Given the description of an element on the screen output the (x, y) to click on. 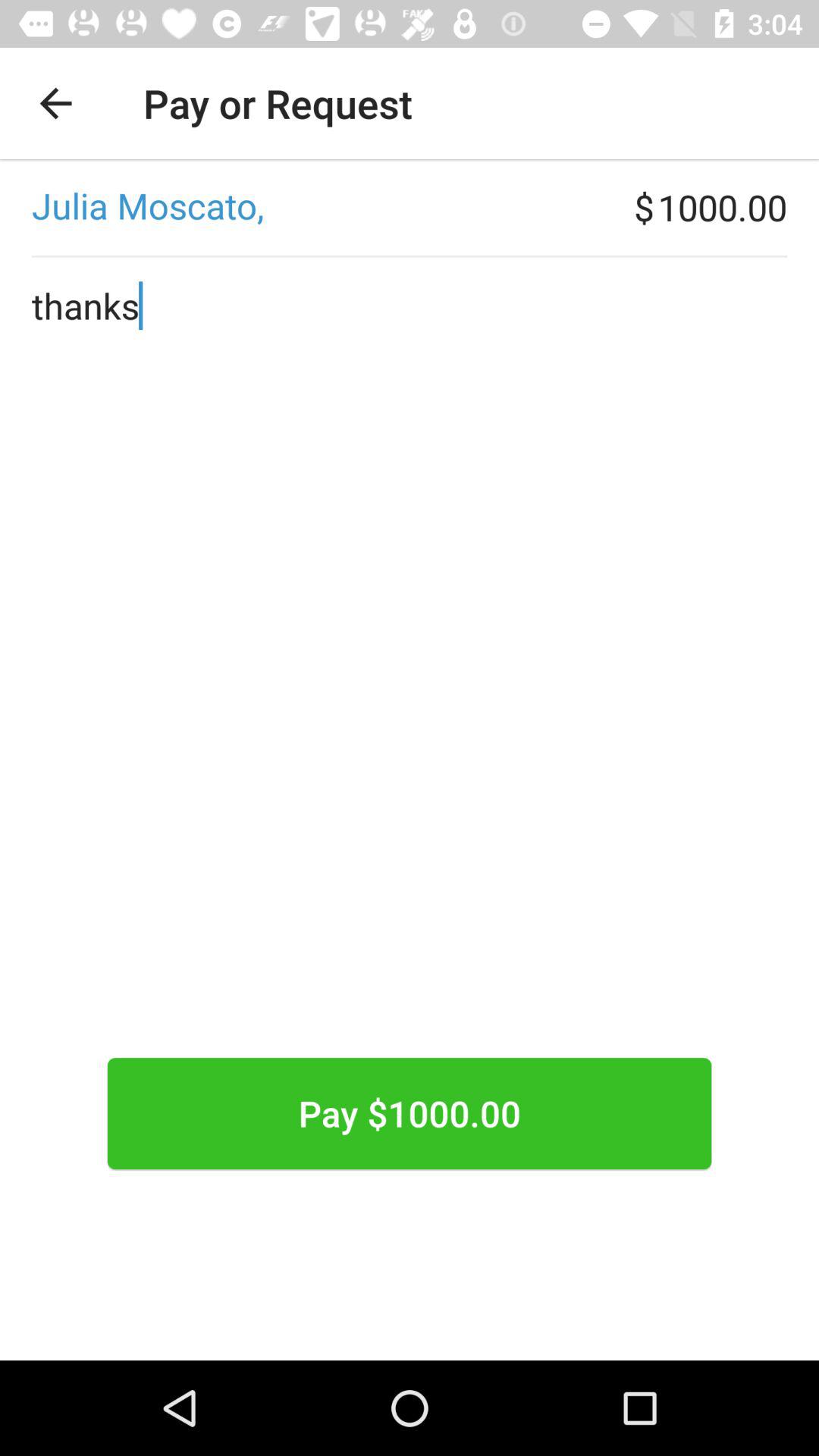
choose app to the left of pay or request icon (55, 103)
